Given the description of an element on the screen output the (x, y) to click on. 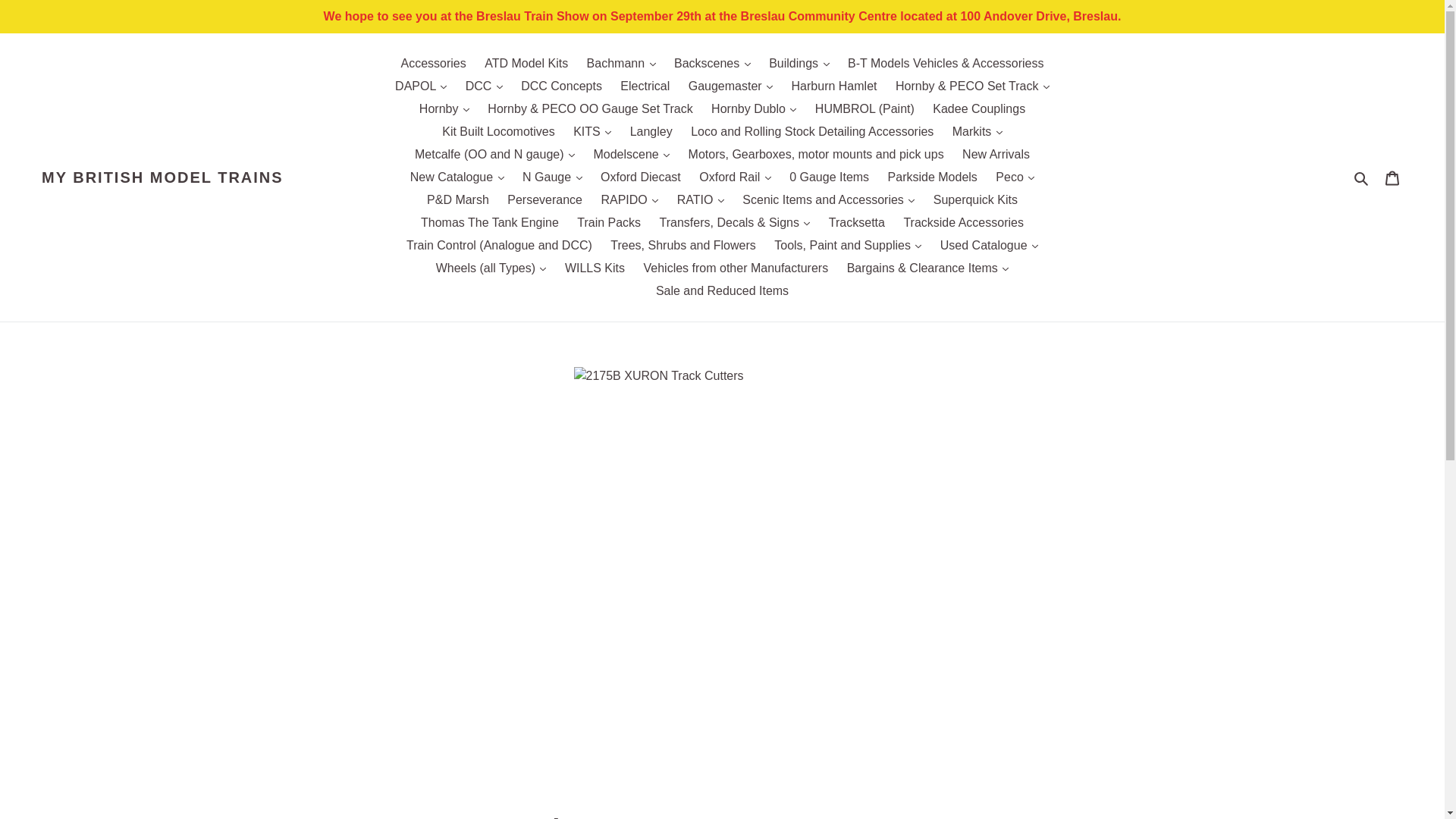
MY BRITISH MODEL TRAINS (162, 177)
ATD Model Kits (526, 63)
DCC Concepts (561, 86)
Electrical (644, 86)
Accessories (433, 63)
